Given the description of an element on the screen output the (x, y) to click on. 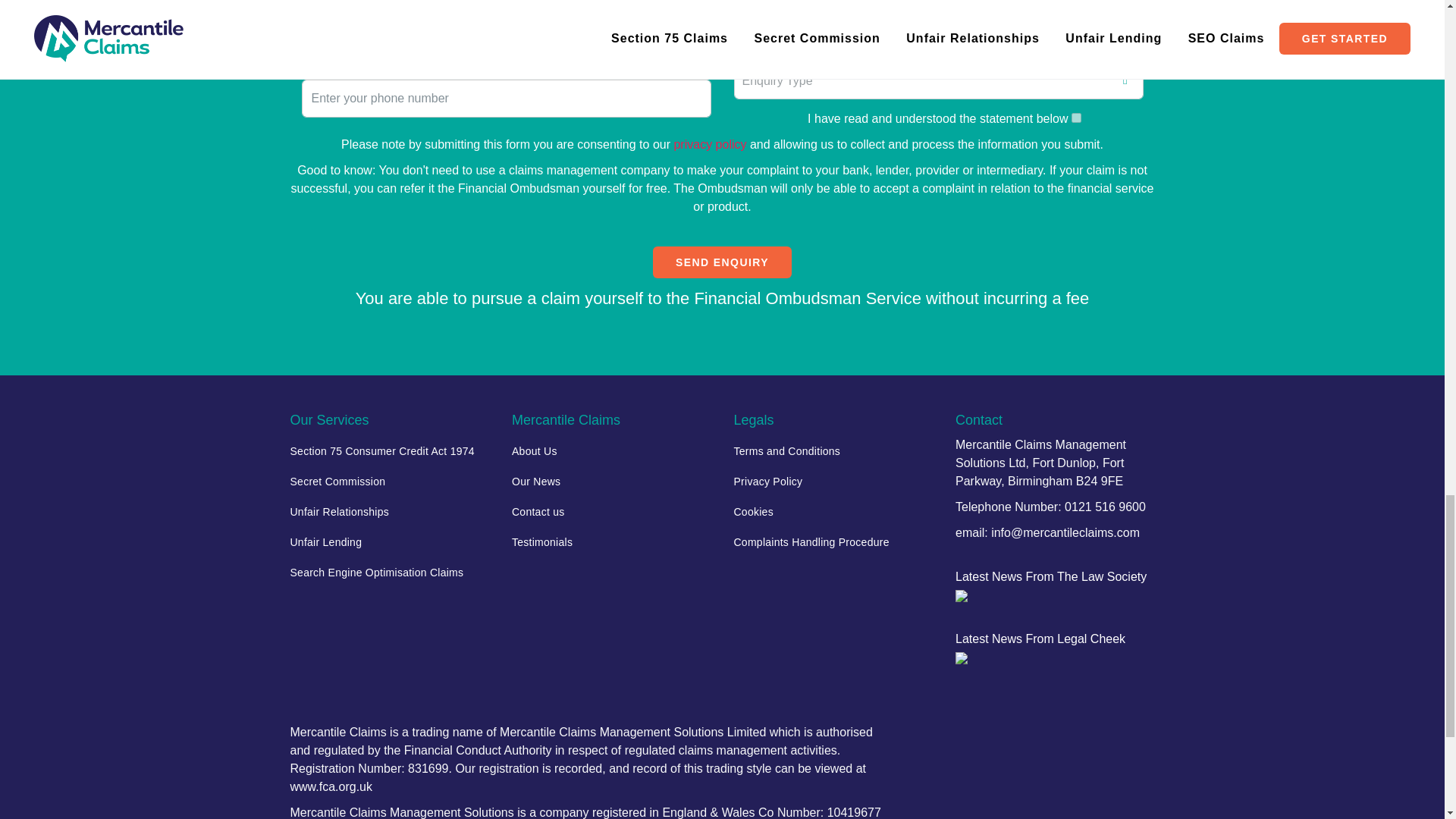
Secret Commission (389, 481)
Unfair Relationships (389, 511)
Our News (611, 481)
privacy policy (708, 144)
Testimonials (611, 542)
About Us (611, 450)
Contact us (611, 511)
Search Engine Optimisation Claims (389, 572)
Unfair Lending (389, 542)
Section 75 Consumer Credit Act 1974 (389, 450)
